Given the description of an element on the screen output the (x, y) to click on. 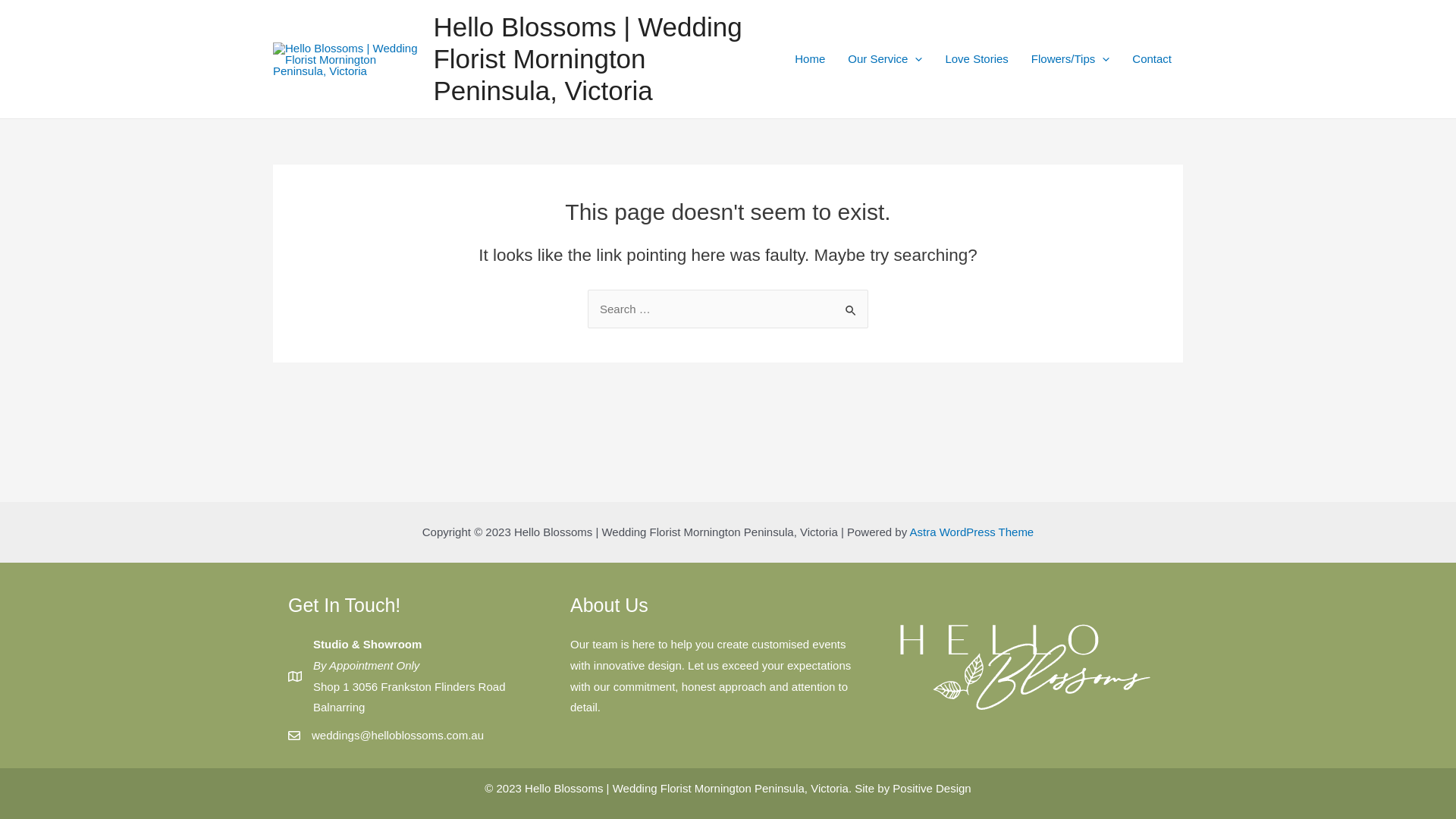
Our Service Element type: text (884, 58)
Site by Positive Design Element type: text (912, 787)
Home Element type: text (809, 58)
Love Stories Element type: text (976, 58)
weddings@helloblossoms.com.au Element type: text (397, 734)
Contact Element type: text (1151, 58)
Flowers/Tips Element type: text (1069, 58)
Hello-Blossoms-white-version Element type: hover (1025, 666)
Astra WordPress Theme Element type: text (972, 531)
Search Element type: text (851, 304)
